Given the description of an element on the screen output the (x, y) to click on. 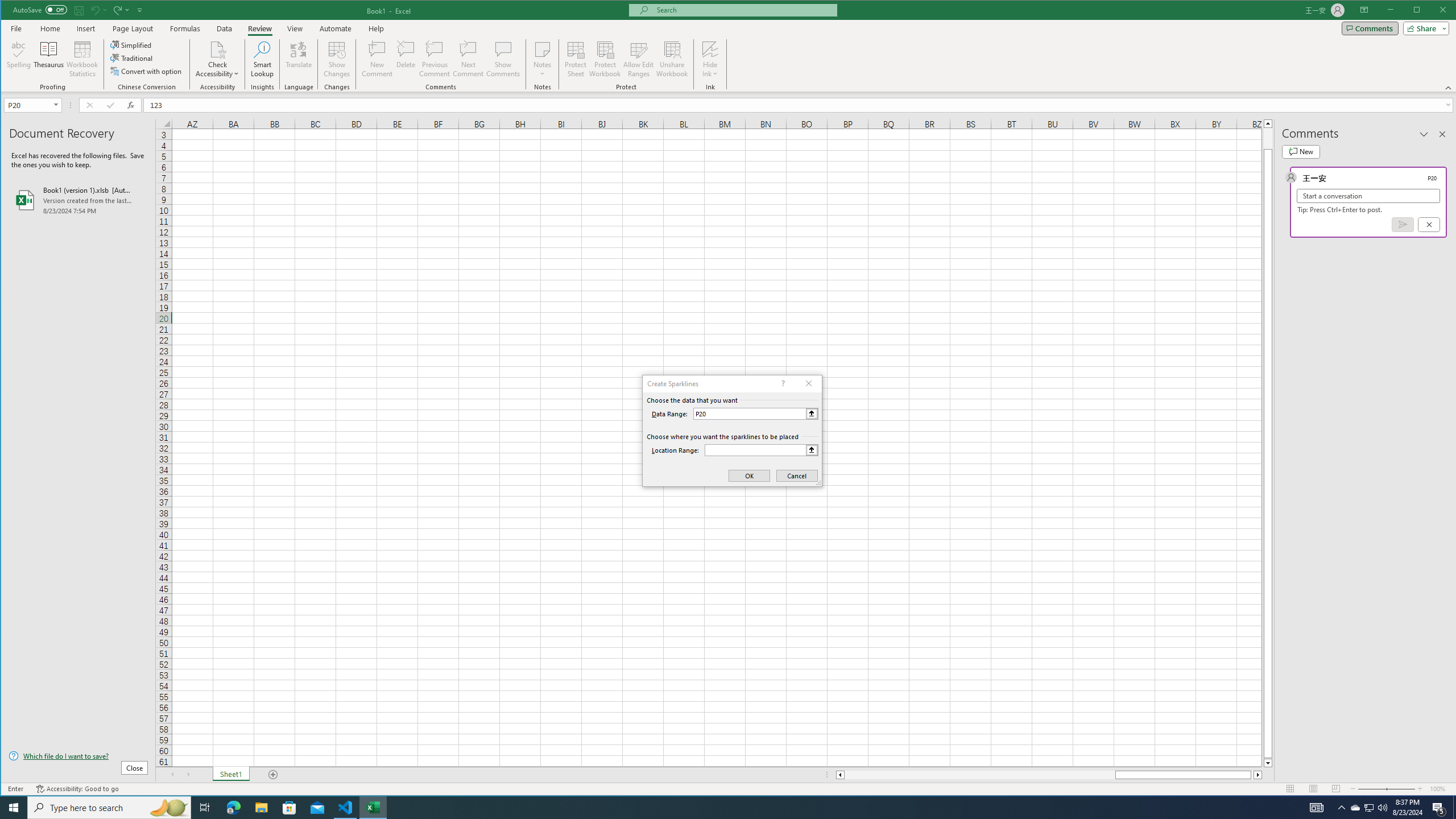
Previous Comment (434, 59)
Open (56, 105)
Class: MsoCommandBar (728, 45)
Class: NetUIScrollBar (1048, 774)
Close (1445, 11)
Help (376, 28)
Check Accessibility (217, 59)
Formulas (184, 28)
Minimize (1419, 11)
Quick Access Toolbar (79, 9)
Simplified (132, 44)
Page Break Preview (1335, 788)
